Given the description of an element on the screen output the (x, y) to click on. 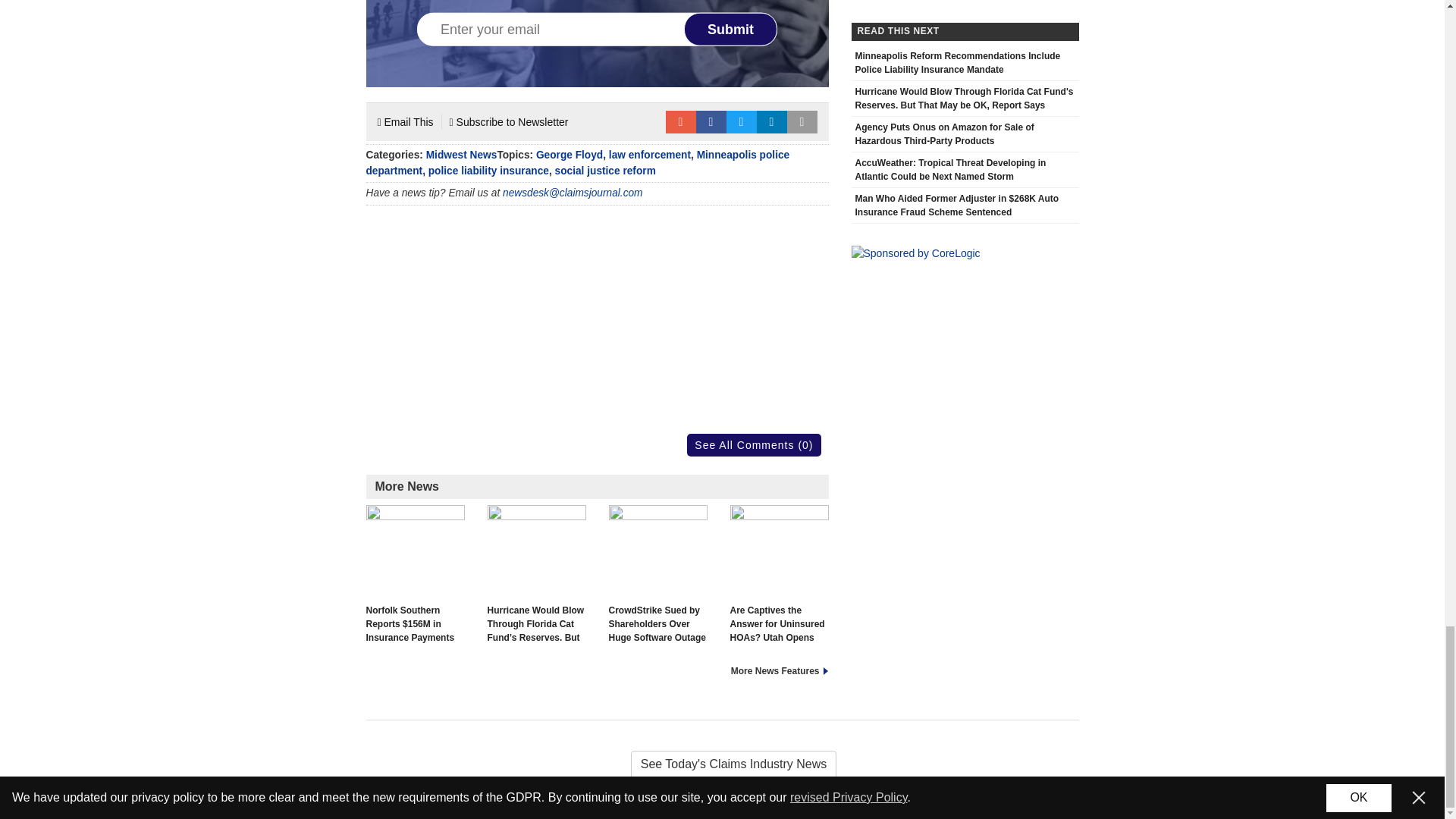
Share on Twitter. (741, 121)
Email to a friend (680, 121)
Submit (730, 28)
Print Article (801, 121)
Post to Facebook. (710, 121)
Share on LinkedIn. (772, 121)
See Today's Claims Industry News (721, 764)
See Today's Claims Industry News (721, 764)
